Given the description of an element on the screen output the (x, y) to click on. 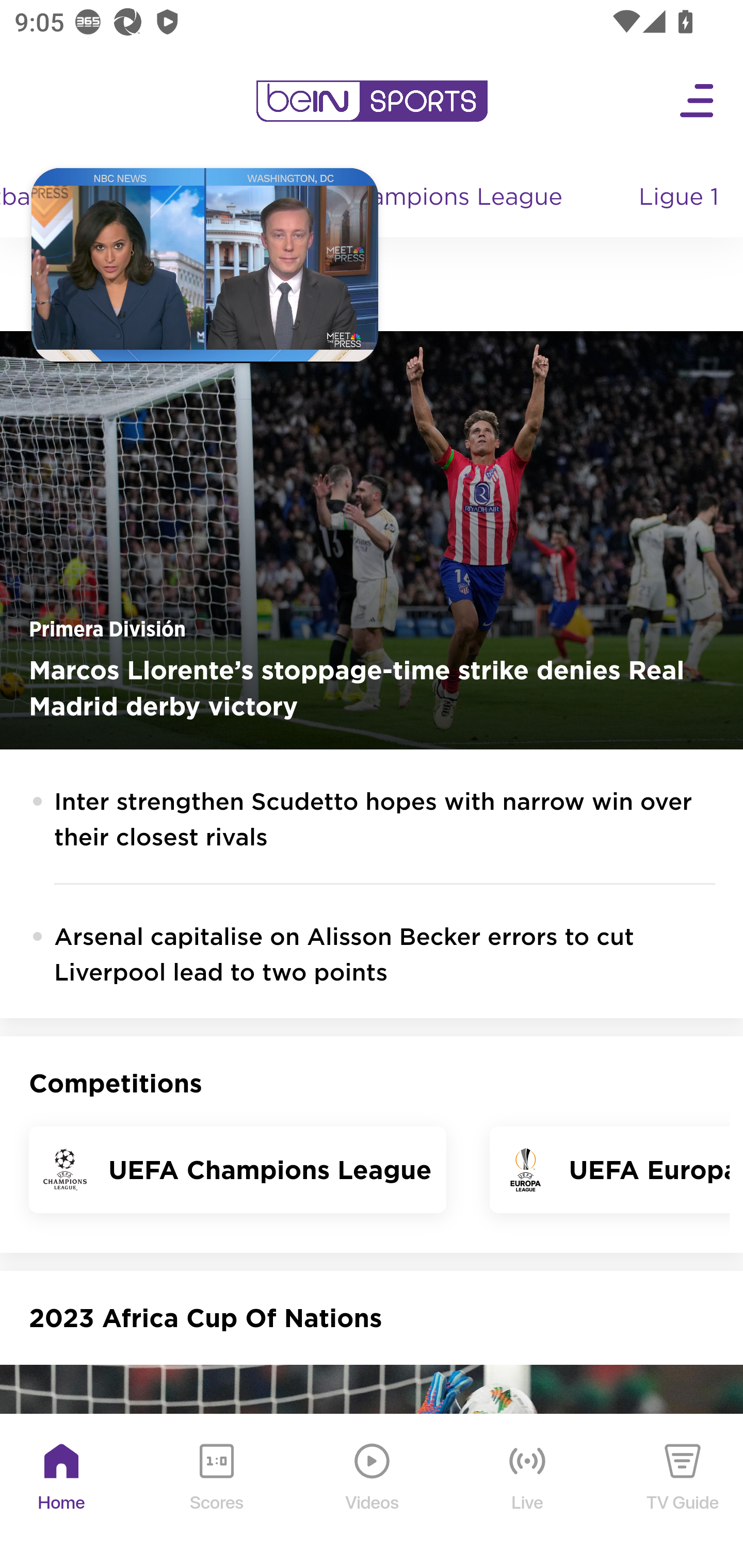
en-my?platform=mobile_android bein logo (371, 101)
Open Menu Icon (697, 101)
Football (30, 198)
Ligue 1 (680, 198)
Home Home Icon Home (61, 1491)
Scores Scores Icon Scores (216, 1491)
Videos Videos Icon Videos (372, 1491)
TV Guide TV Guide Icon TV Guide (682, 1491)
